Given the description of an element on the screen output the (x, y) to click on. 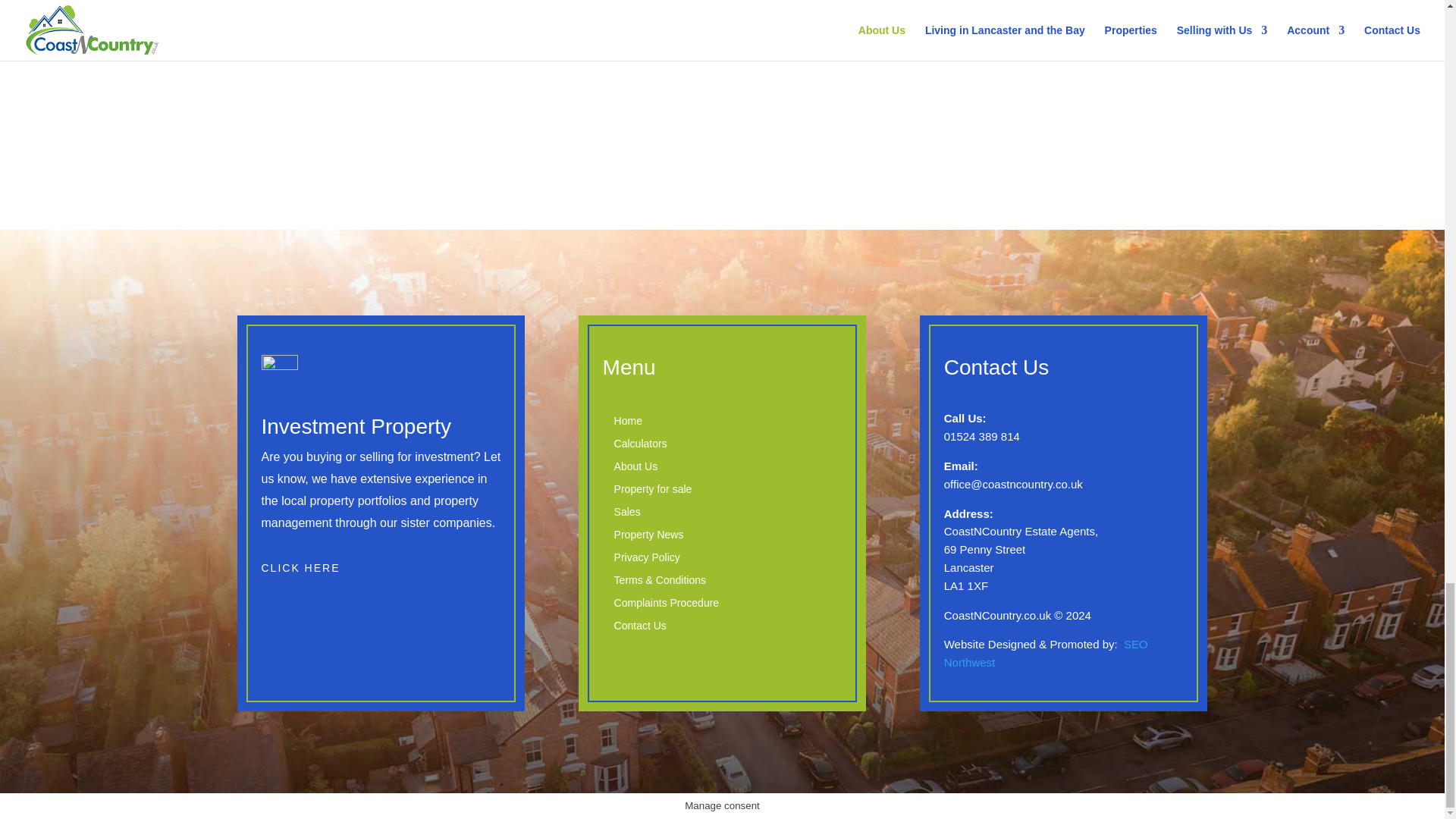
Sales (627, 514)
SEO Northwest (1045, 653)
Contact Us (640, 628)
Home (627, 423)
Property News (648, 537)
About Us (635, 469)
Calculators (640, 446)
Privacy Policy (646, 560)
Property for sale (652, 492)
CLICK HERE (299, 568)
Complaints Procedure (666, 605)
